Given the description of an element on the screen output the (x, y) to click on. 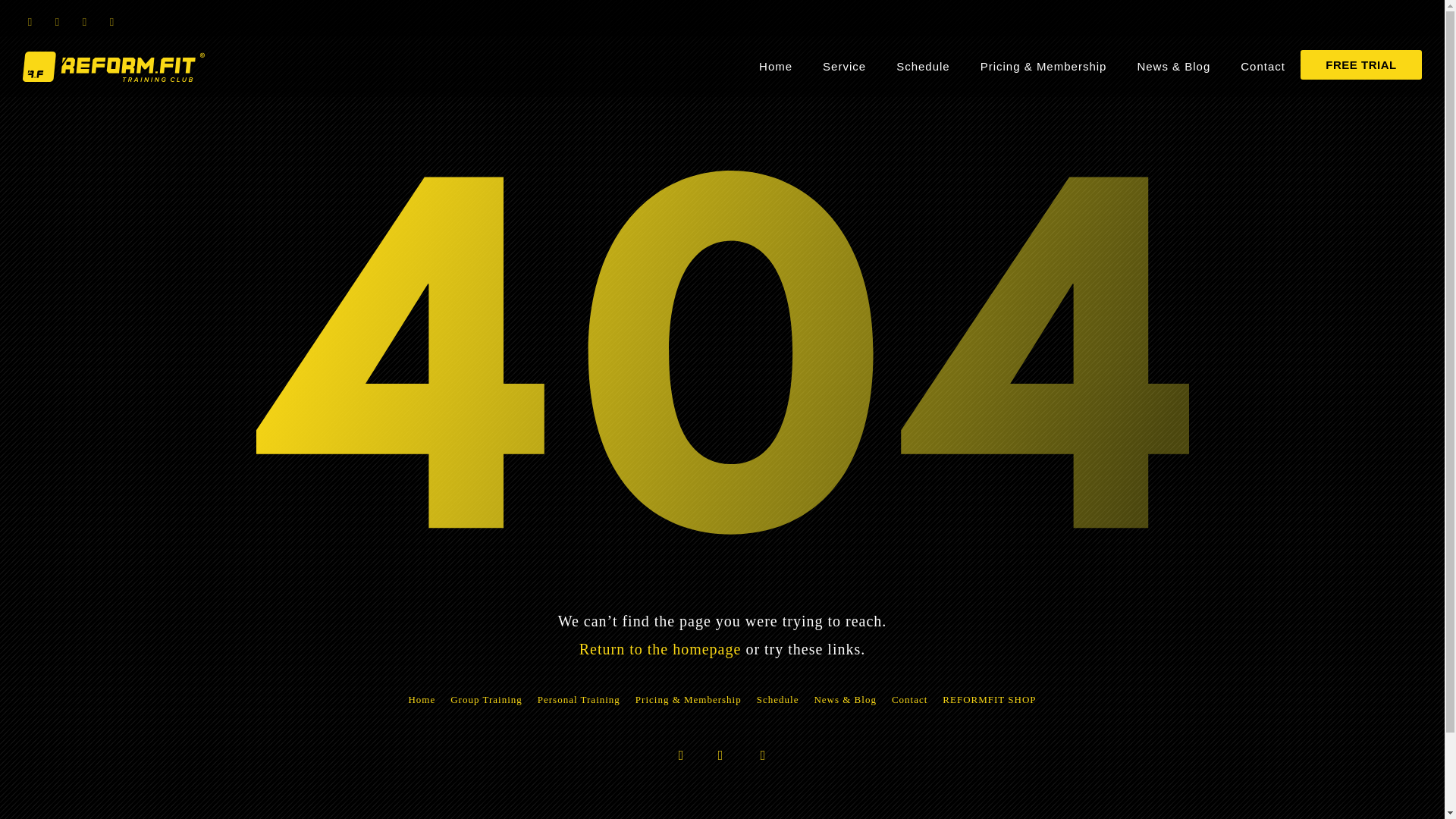
Personal Training (578, 700)
Home (421, 700)
REFORMFIT SHOP (988, 700)
Group Training (485, 700)
Contact (908, 700)
FREE TRIAL (1361, 64)
Contact (1262, 65)
Return to the homepage (660, 648)
Service (844, 65)
Schedule (777, 700)
